Given the description of an element on the screen output the (x, y) to click on. 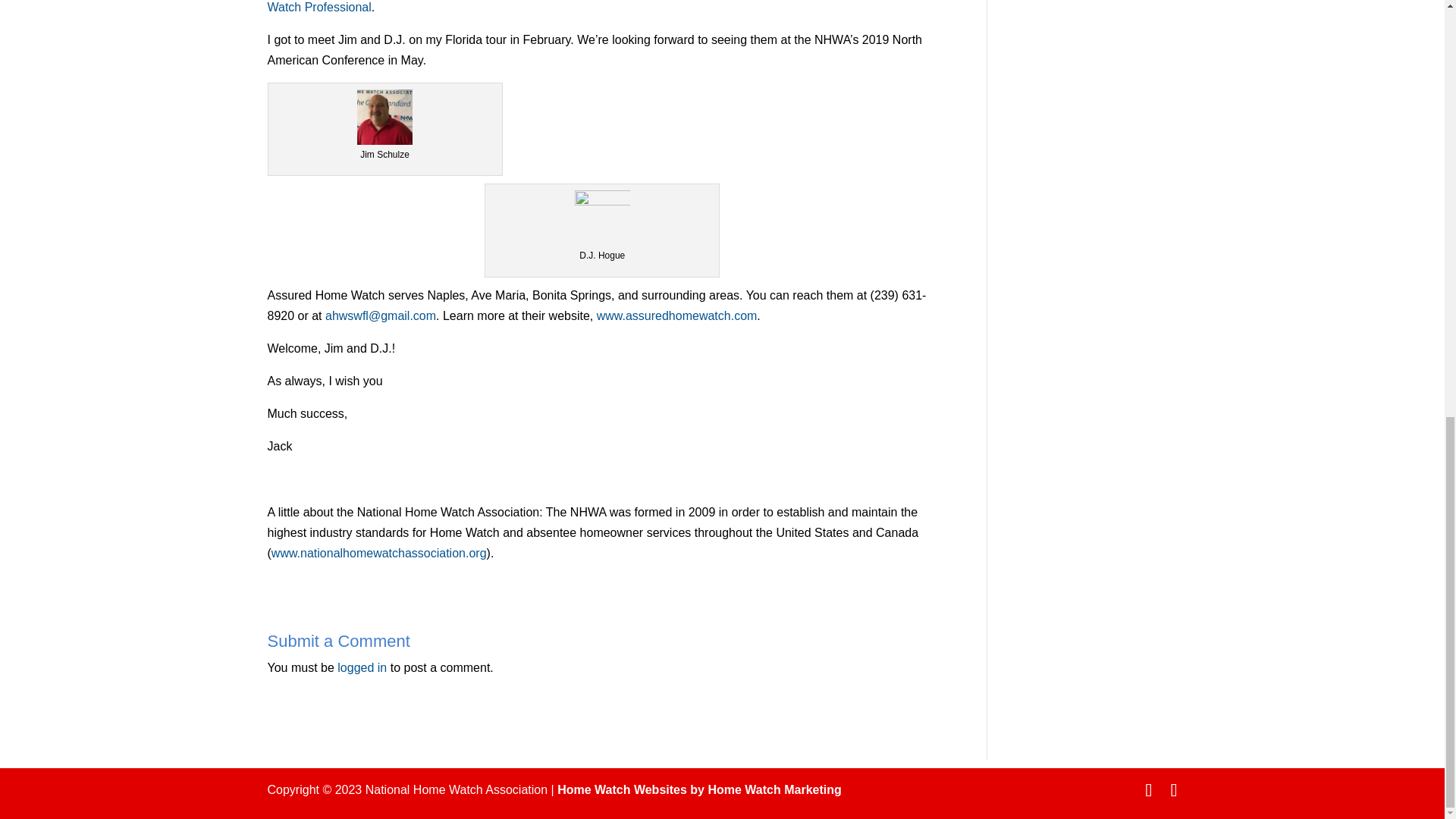
logged in (362, 667)
Home Watch Websites by Home Watch Marketing (699, 789)
www.nationalhomewatchassociation.org (378, 553)
Certified Home Watch Professional (598, 6)
www.assuredhomewatch.com (676, 315)
